Given the description of an element on the screen output the (x, y) to click on. 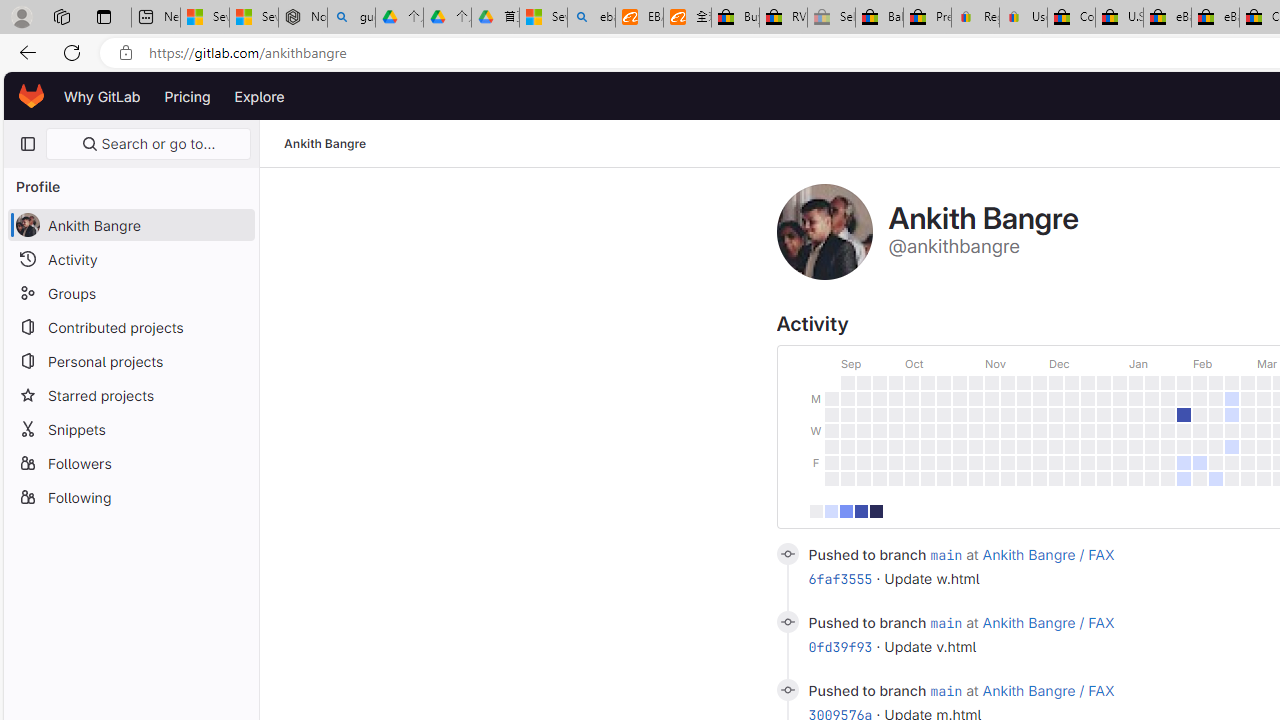
Class: s14 (786, 689)
Groups (130, 292)
